Given the description of an element on the screen output the (x, y) to click on. 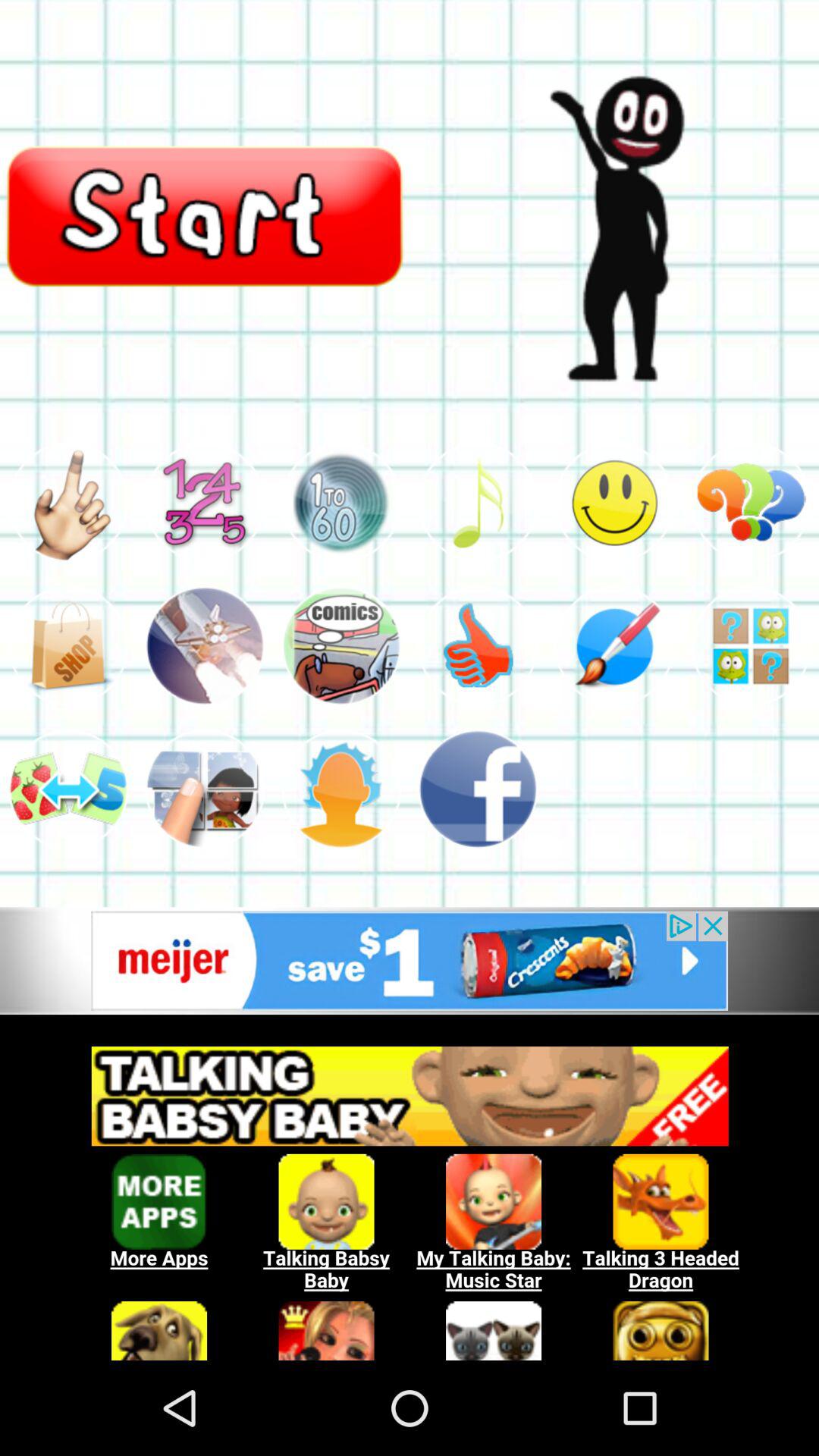
open shop (68, 645)
